Given the description of an element on the screen output the (x, y) to click on. 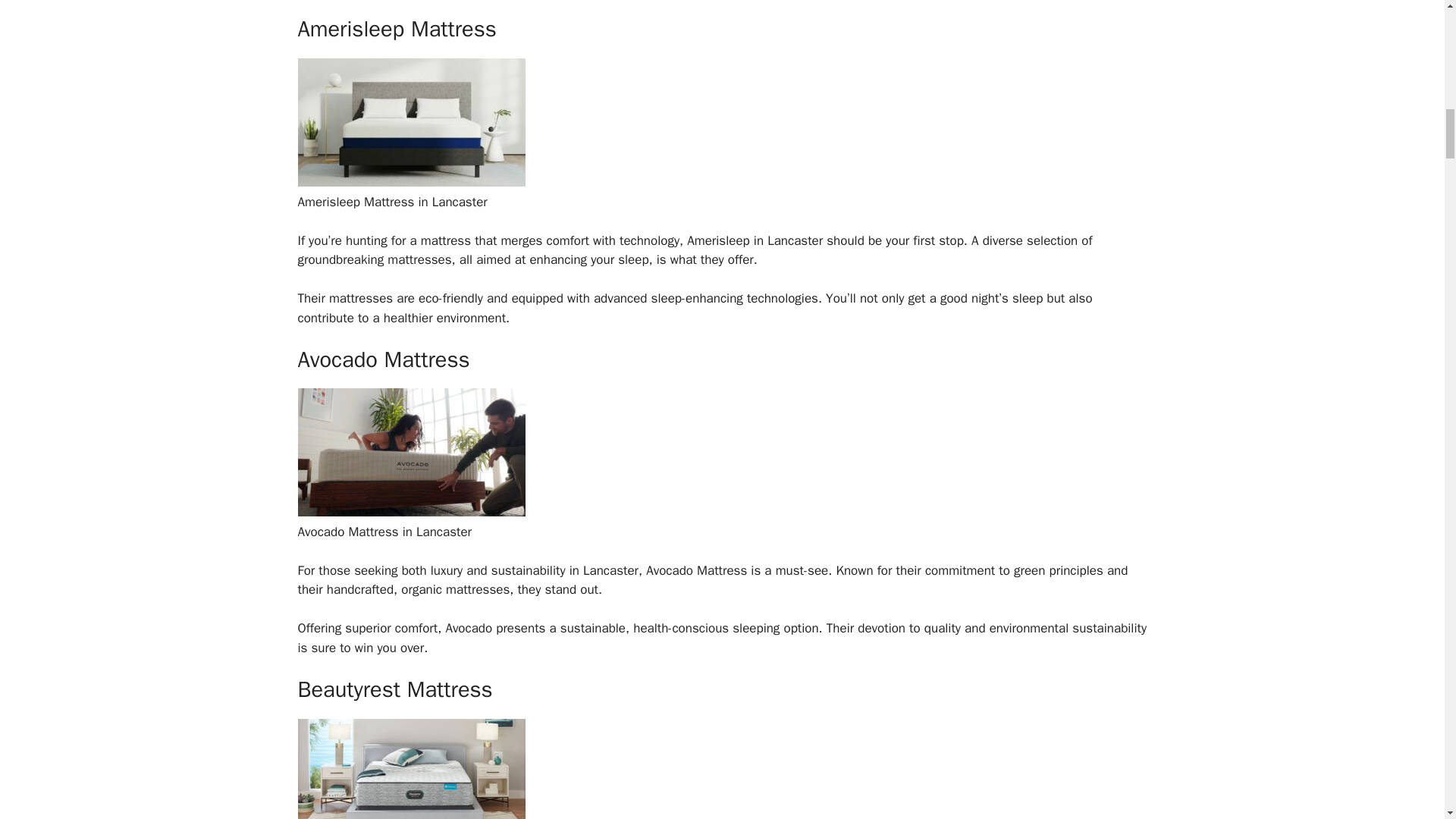
Avocado Mattress Lancaster (410, 512)
Amerisleep Mattress Lancaster (410, 182)
